Given the description of an element on the screen output the (x, y) to click on. 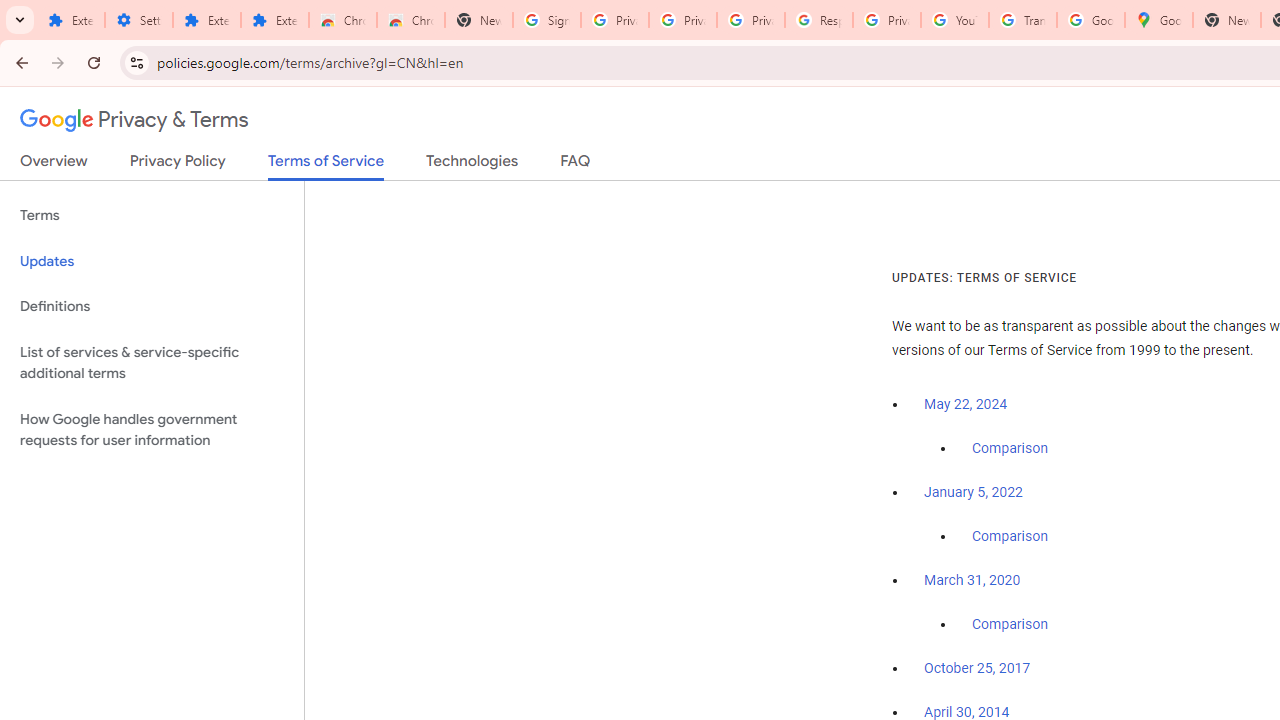
Comparison (1009, 625)
January 5, 2022 (973, 492)
Chrome Web Store (342, 20)
October 25, 2017 (977, 669)
March 31, 2020 (972, 580)
